Given the description of an element on the screen output the (x, y) to click on. 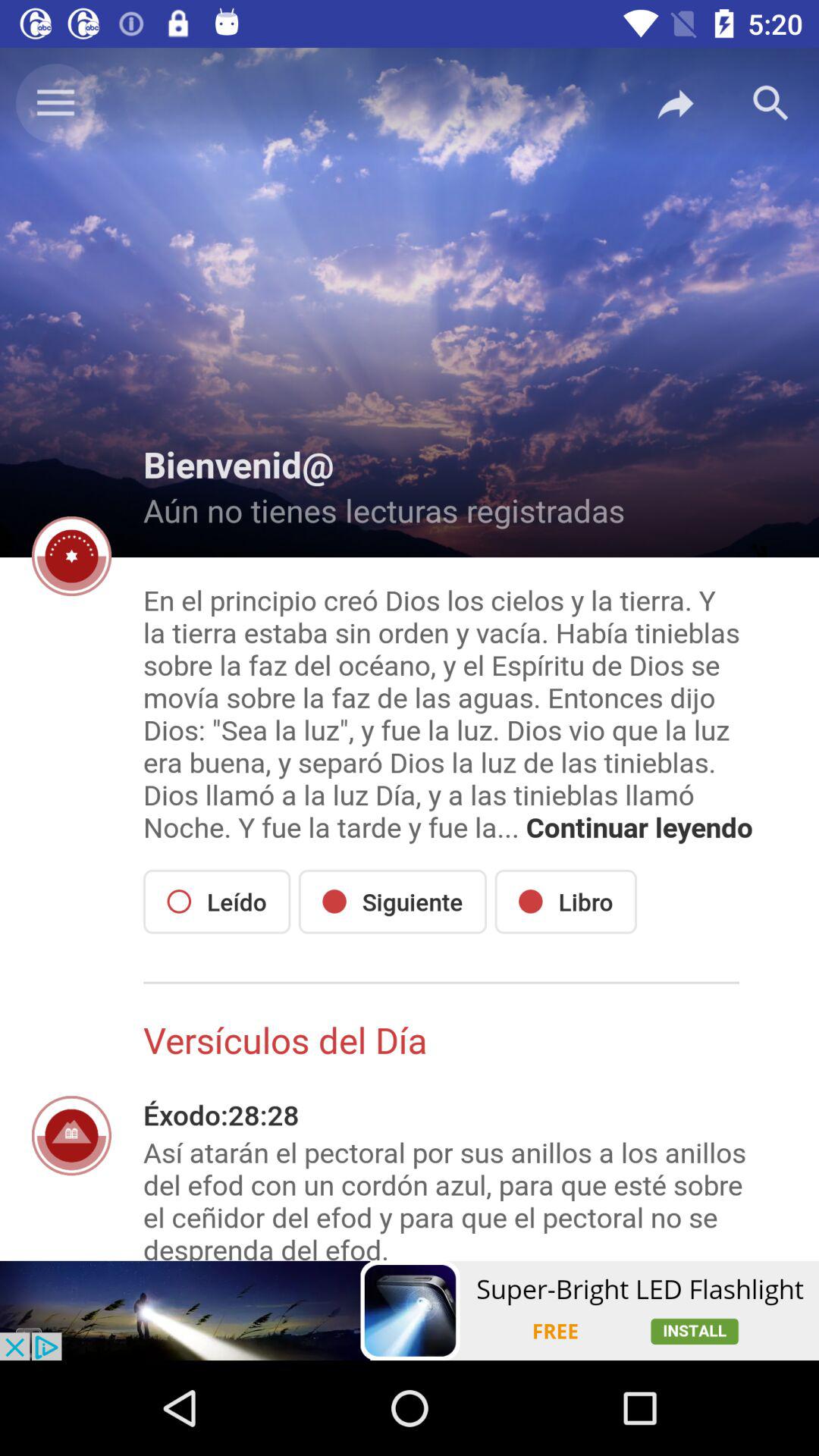
swipe to siguiente icon (392, 901)
